Given the description of an element on the screen output the (x, y) to click on. 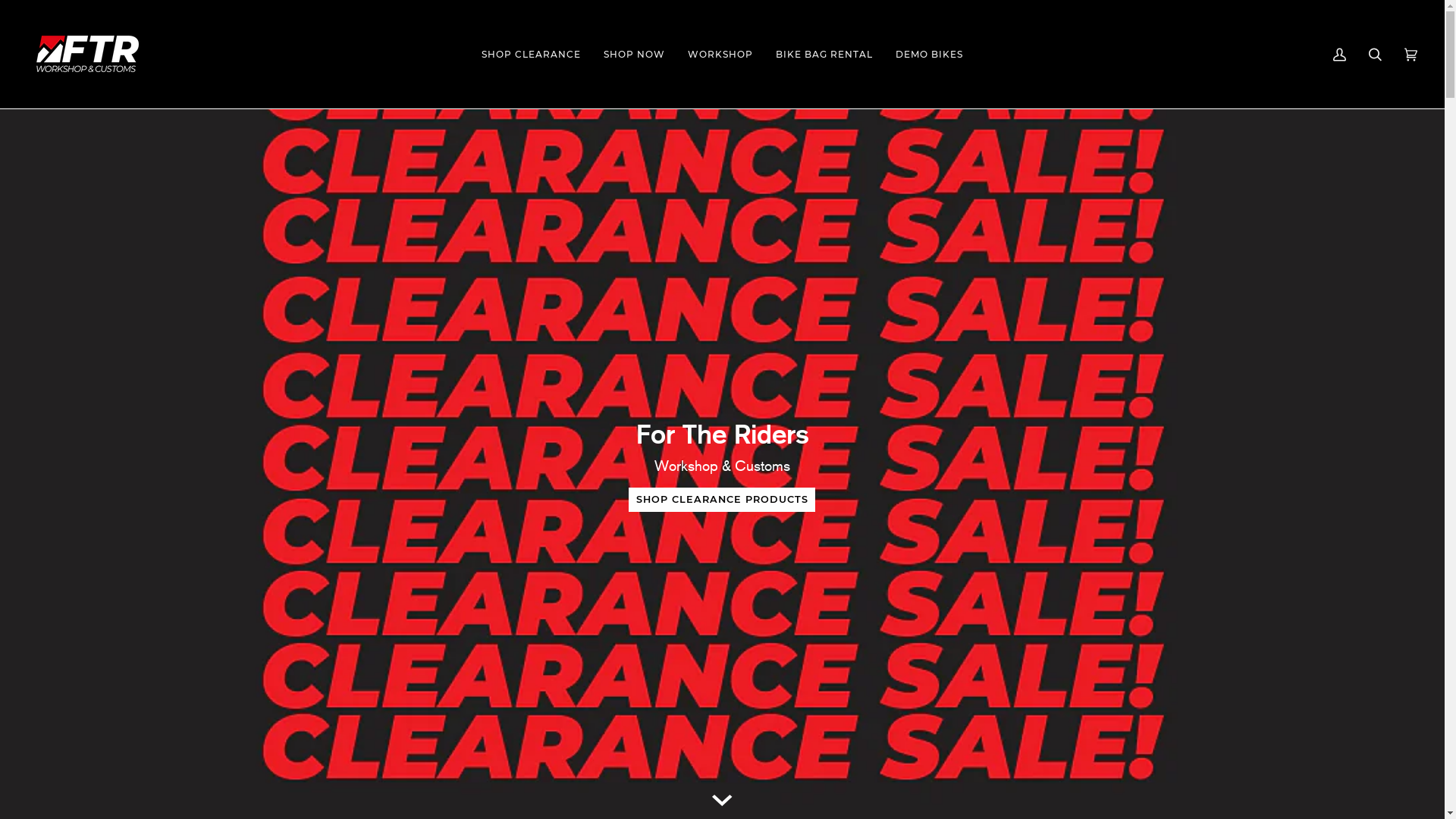
BIKE BAG RENTAL Element type: text (824, 54)
SHOP CLEARANCE PRODUCTS Element type: text (721, 499)
SHOP NOW Element type: text (634, 54)
SHOP CLEARANCE Element type: text (531, 54)
WORKSHOP Element type: text (720, 54)
DEMO BIKES Element type: text (929, 54)
SEARCH Element type: text (1375, 54)
CART
(0) Element type: text (1410, 54)
MY ACCOUNT Element type: text (1339, 54)
